Given the description of an element on the screen output the (x, y) to click on. 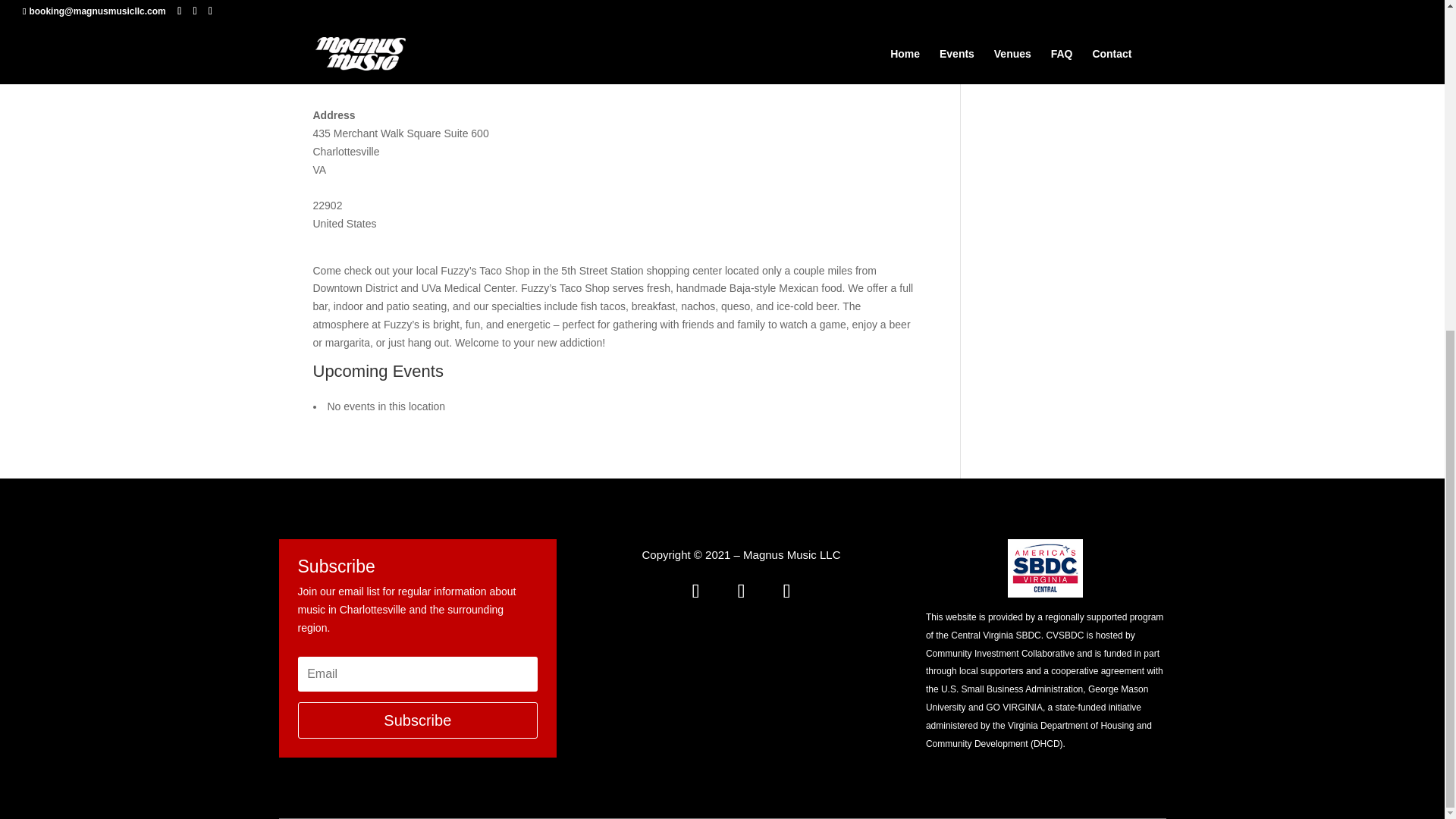
Subscribe (417, 719)
Follow on Instagram (786, 590)
Follow on Facebook (694, 590)
Follow on Twitter (740, 590)
